Given the description of an element on the screen output the (x, y) to click on. 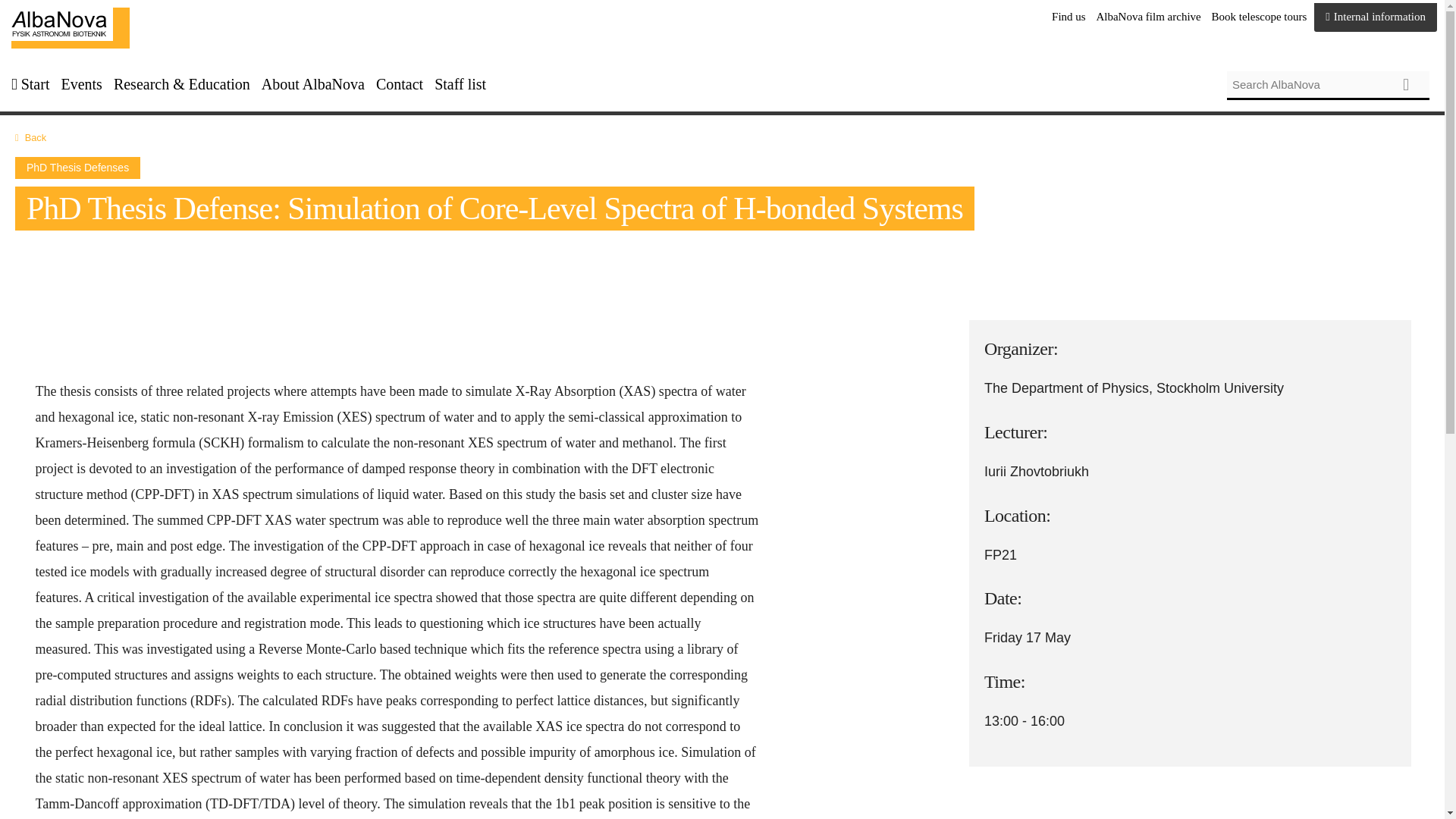
Start (70, 26)
Start (35, 85)
Find us (1068, 17)
Staff list (459, 85)
AlbaNova film archive (1147, 17)
Events (81, 85)
Book telescope tours (1258, 17)
About AlbaNova (313, 85)
Internal information (1375, 17)
Back (35, 137)
Contact (399, 85)
